Given the description of an element on the screen output the (x, y) to click on. 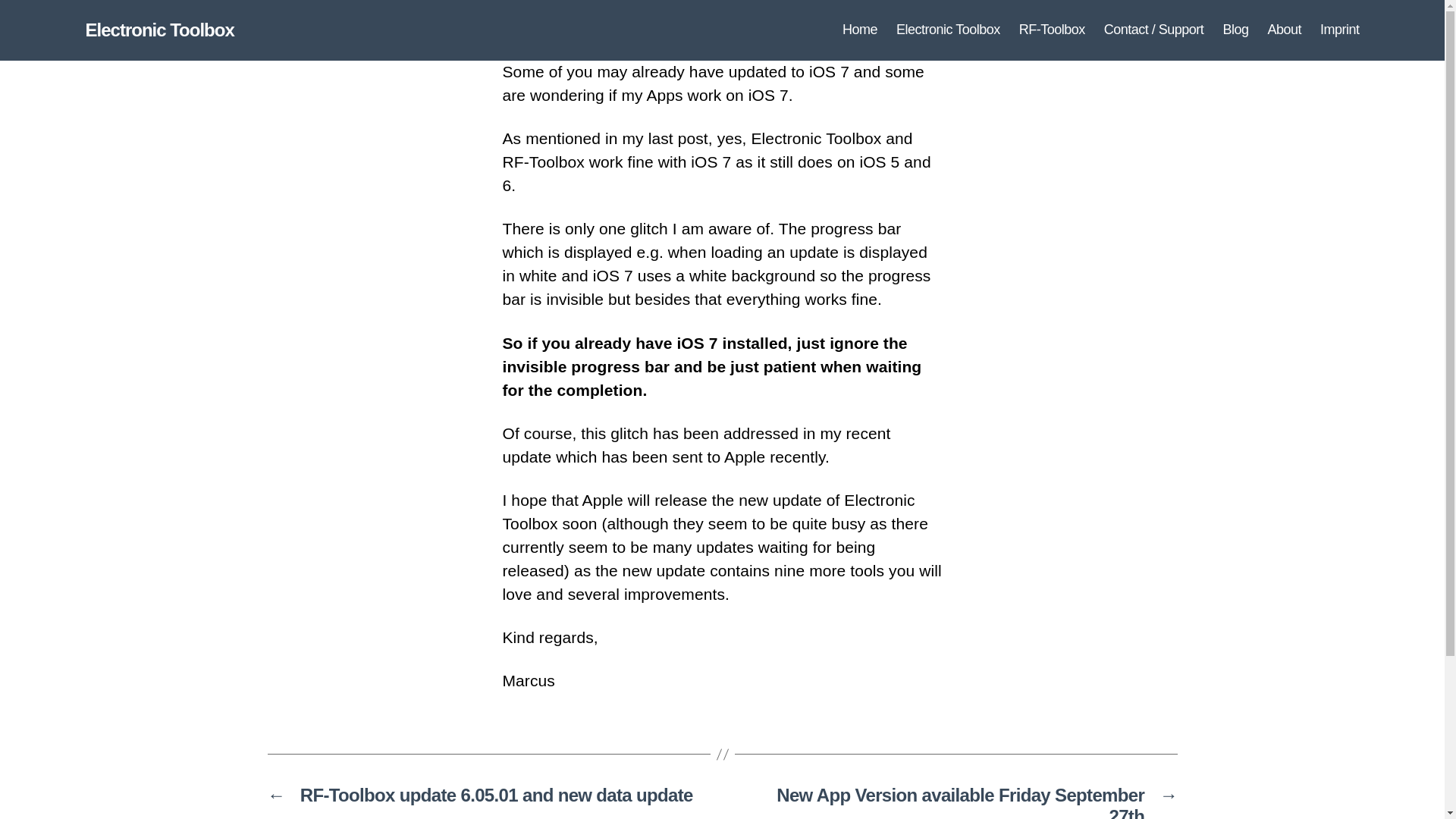
Imprint (1339, 30)
Home (860, 30)
About (1283, 30)
Electronic Toolbox (158, 30)
Electronic Toolbox (948, 30)
RF-Toolbox (1051, 30)
Blog (1235, 30)
